Given the description of an element on the screen output the (x, y) to click on. 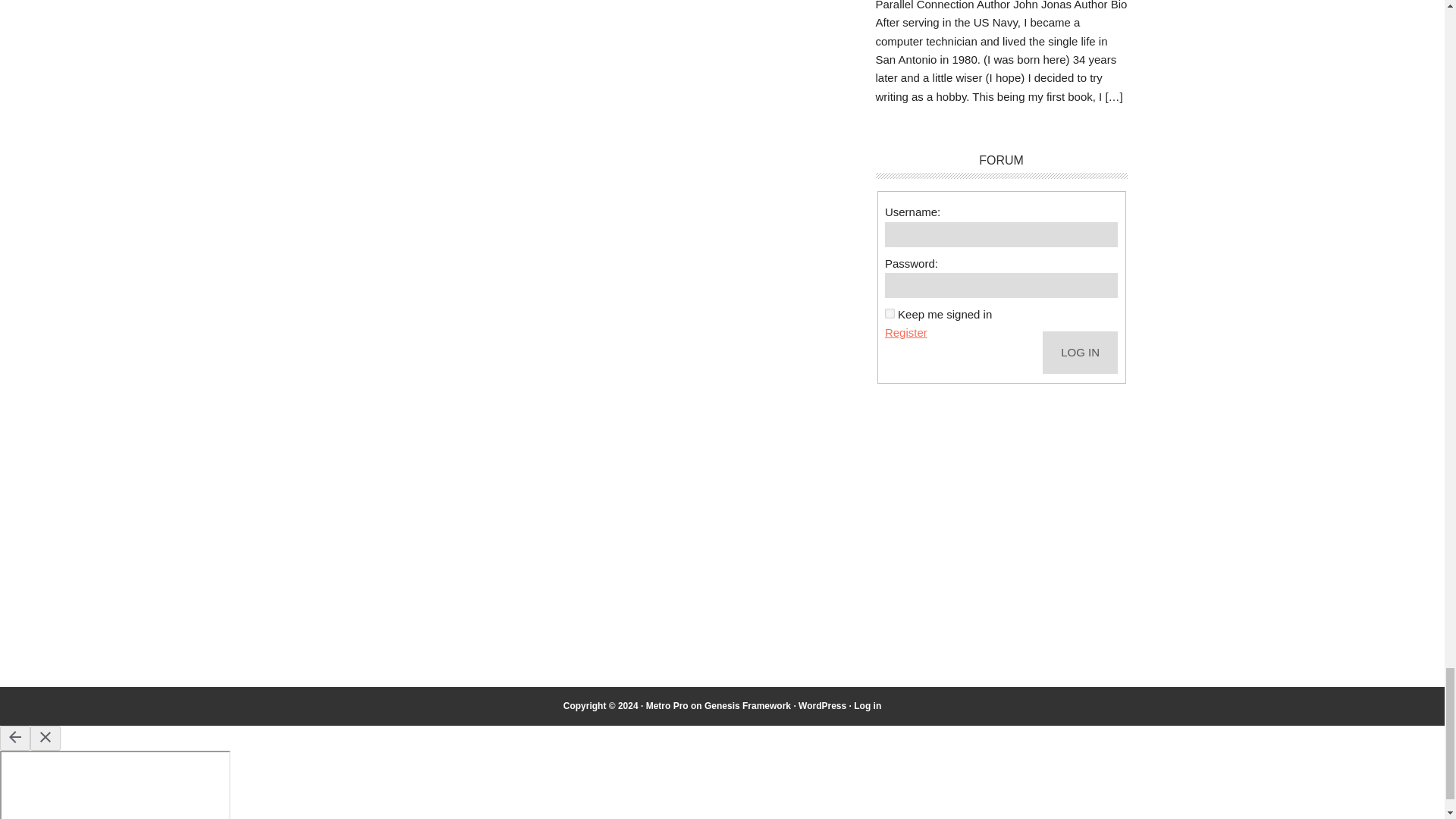
Register (906, 332)
forever (890, 313)
